Given the description of an element on the screen output the (x, y) to click on. 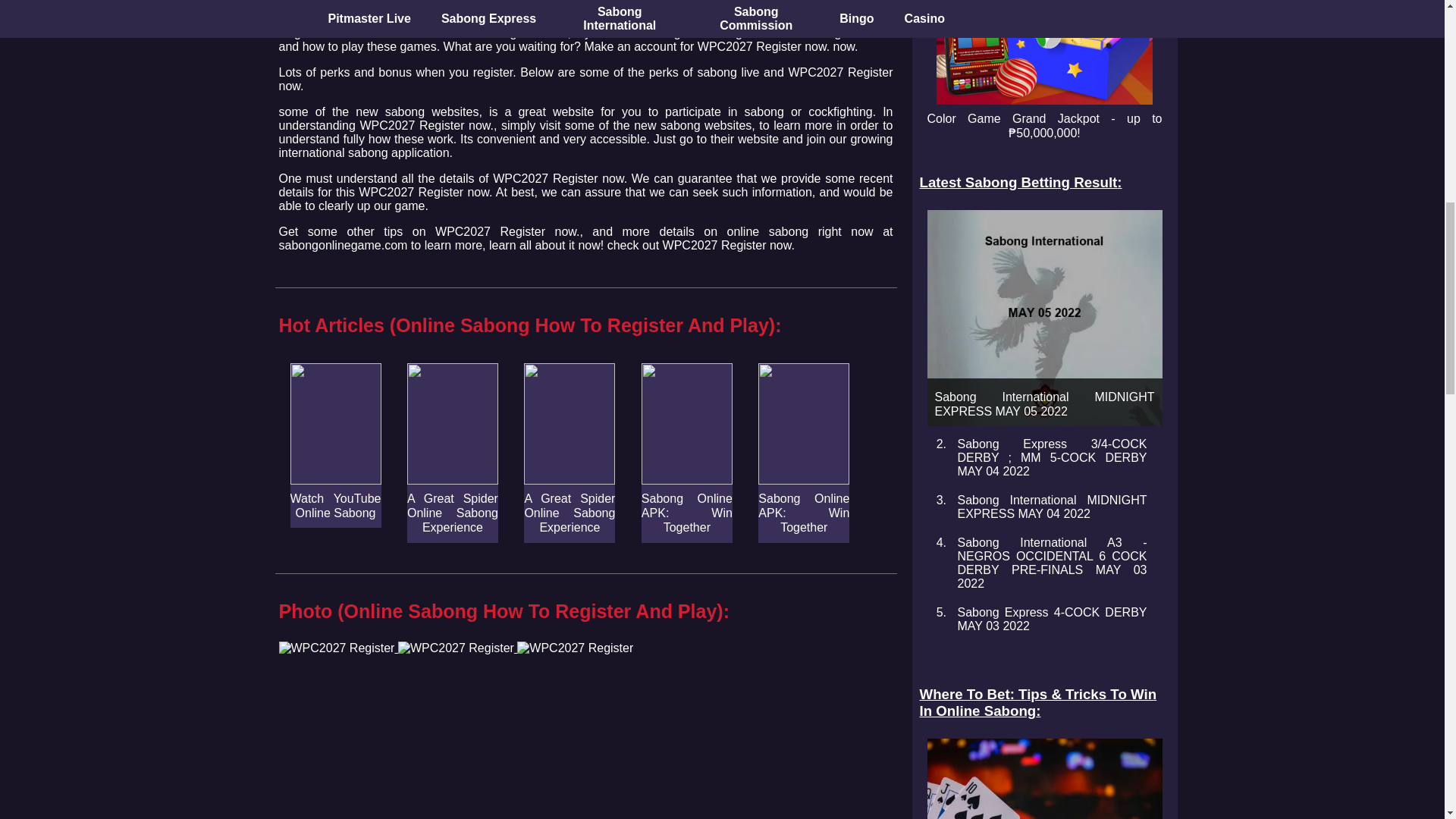
Sabong International MIDNIGHT EXPRESS MAY 05 2022 (1043, 317)
Latest Sabong Betting Result (1043, 182)
Sabong International MIDNIGHT EXPRESS MAY 04 2022 (1051, 506)
Legitimate List of Casino Online Real Money (1043, 778)
Sabong Express 4-COCK DERBY MAY 03 2022 (1051, 619)
Sabong International MIDNIGHT EXPRESS MAY 05 2022 (1043, 317)
Legitimate List of Casino Online Real Money (1043, 778)
